Given the description of an element on the screen output the (x, y) to click on. 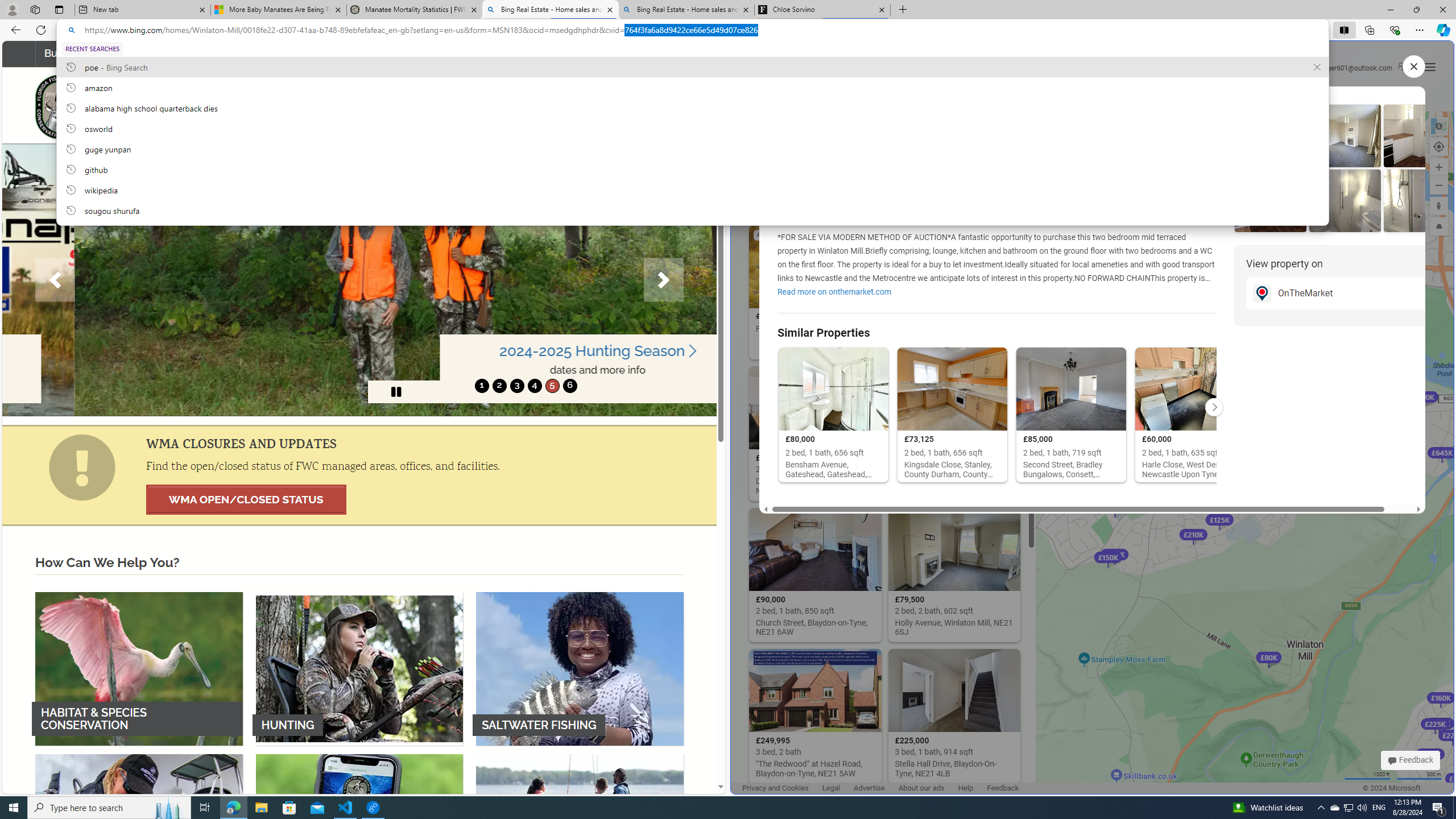
Buy and Apply (84, 53)
github, recent searches from history (691, 168)
WMA OPEN/CLOSED STATUS (245, 499)
Things To Do (478, 53)
5 (551, 385)
sougou shurufa, recent searches from history (691, 209)
osworld, recent searches from history (691, 127)
Bing Real Estate - Home sales and rental listings (685, 9)
slider pause button (396, 391)
FWC Logo (61, 106)
Remove suggestion (1316, 66)
